Given the description of an element on the screen output the (x, y) to click on. 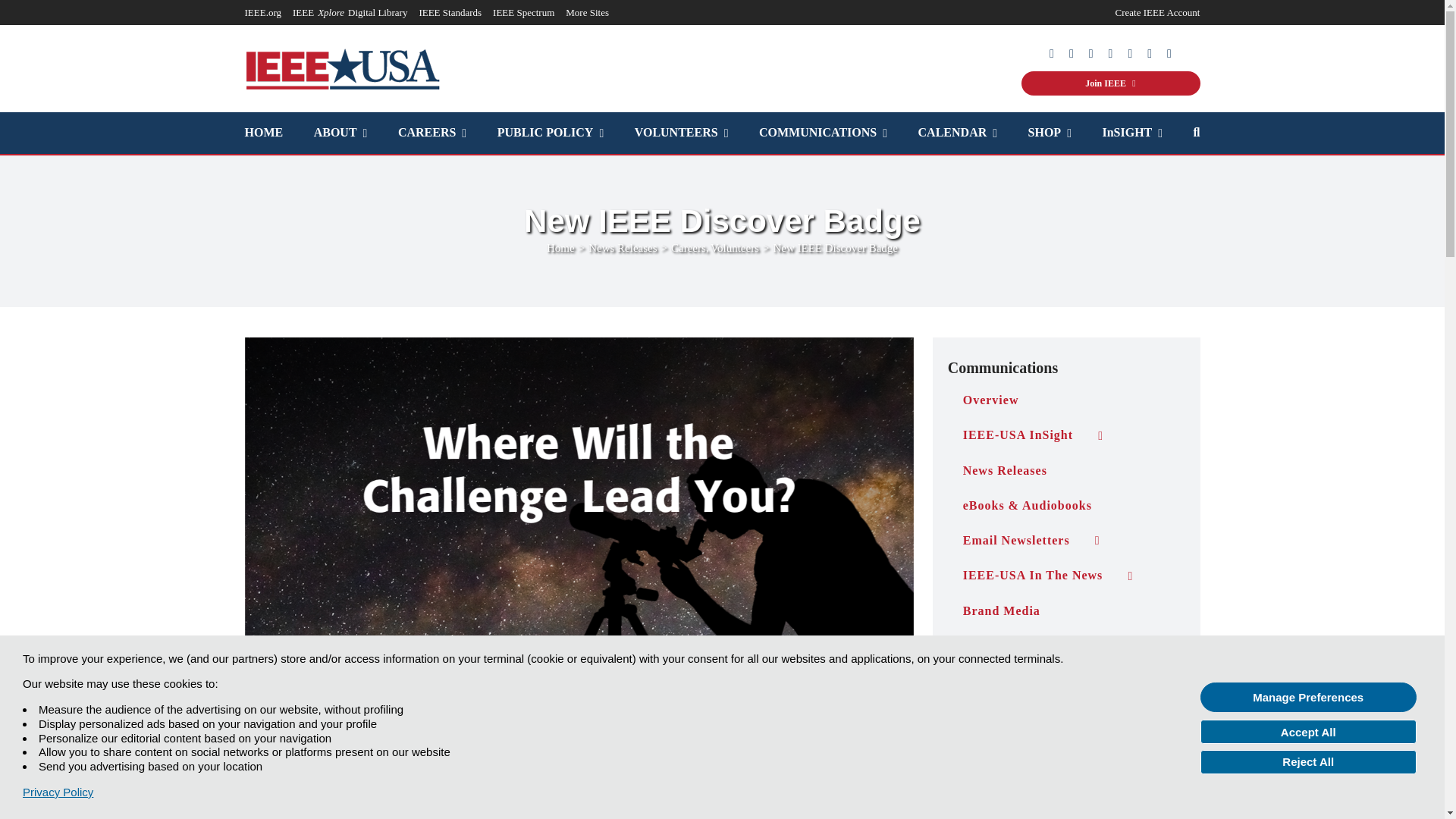
Privacy Policy (58, 792)
Join IEEE (1109, 83)
Manage Preferences (1307, 696)
HOME (263, 133)
IEEE.org (262, 12)
Reject All (1307, 761)
Create IEEE Account (1157, 12)
IEEE Spectrum (523, 12)
ABOUT (341, 133)
More Sites (587, 12)
